Given the description of an element on the screen output the (x, y) to click on. 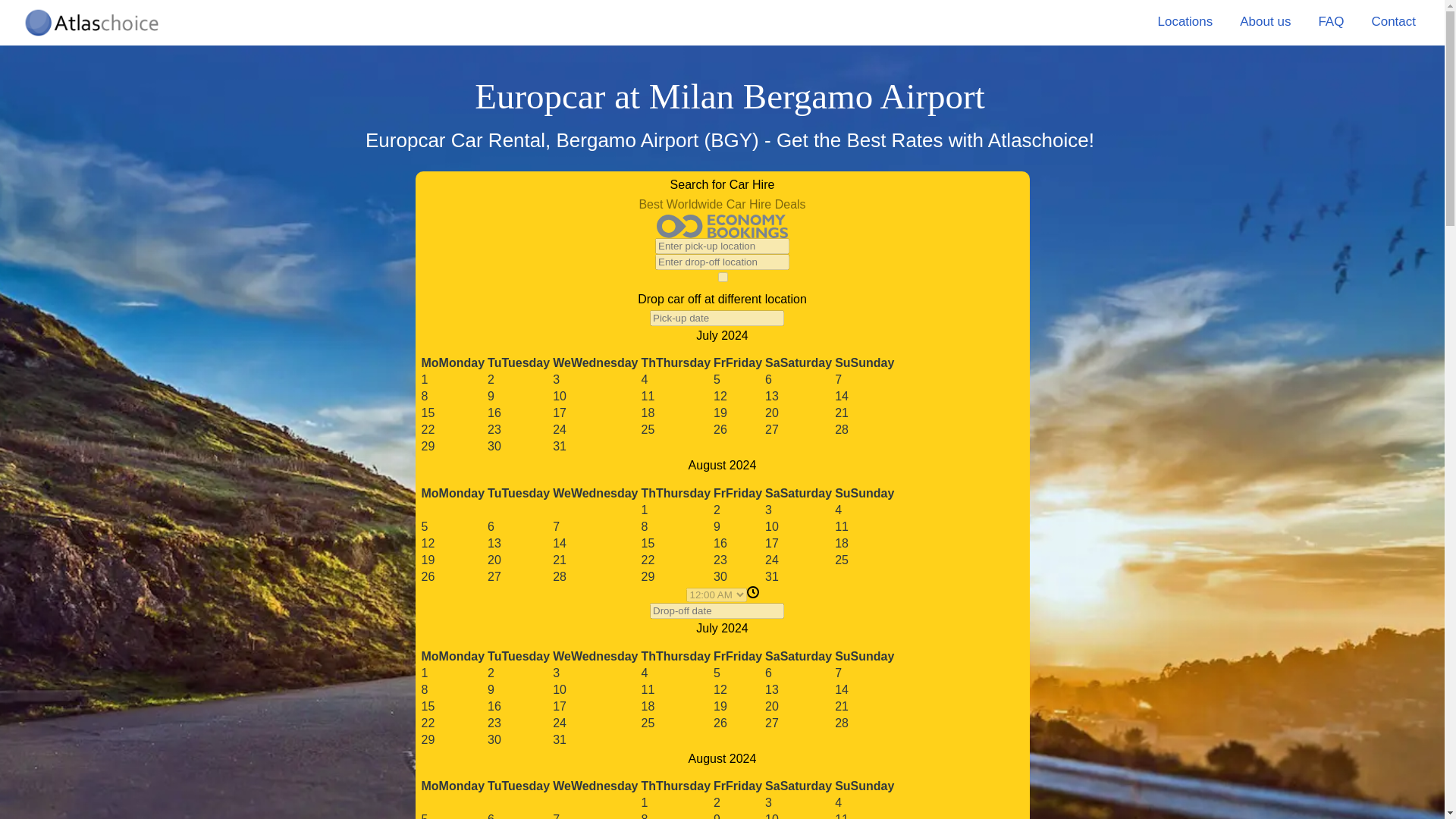
Locations (1183, 22)
FAQ (1330, 22)
Contact (1392, 22)
About us (1264, 22)
